Given the description of an element on the screen output the (x, y) to click on. 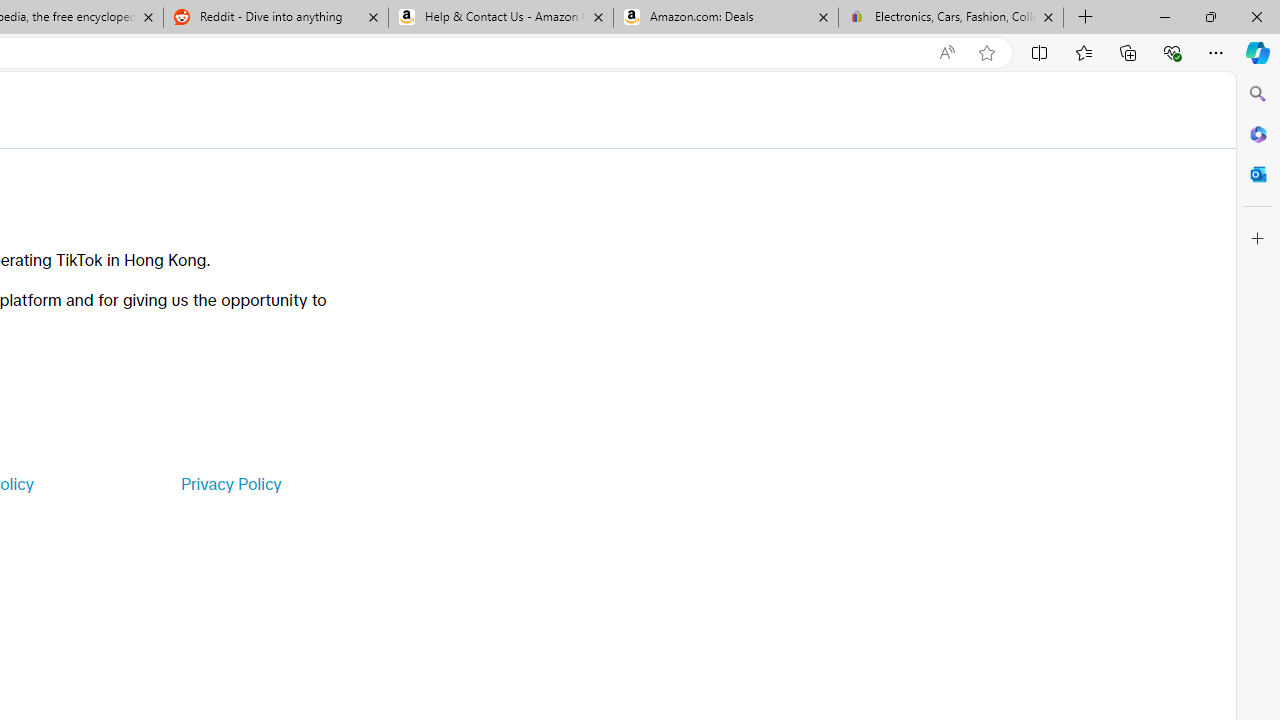
Privacy Policy (230, 484)
Reddit - Dive into anything (275, 17)
Amazon.com: Deals (726, 17)
